Given the description of an element on the screen output the (x, y) to click on. 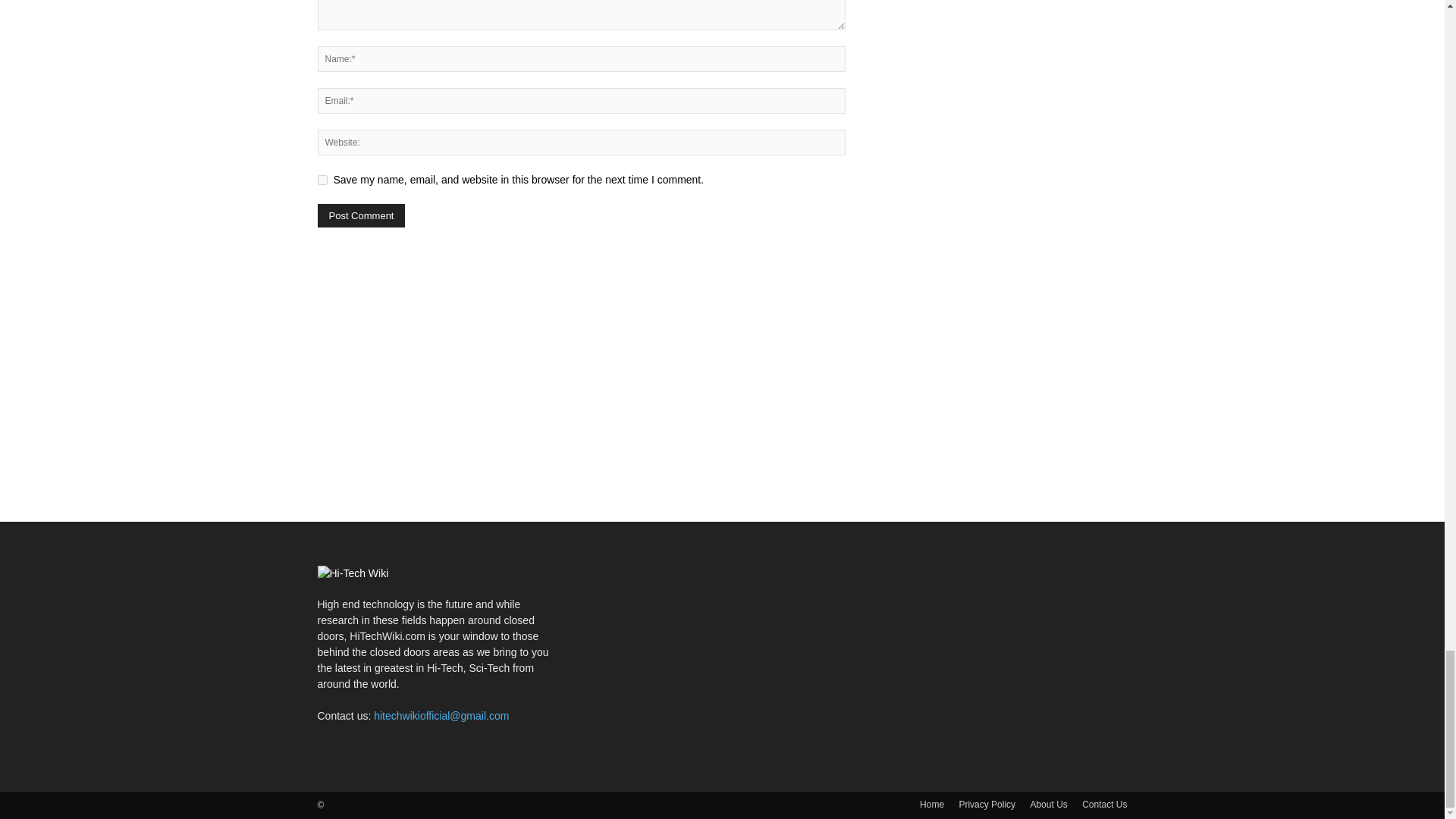
yes (321, 180)
Post Comment (360, 215)
